Given the description of an element on the screen output the (x, y) to click on. 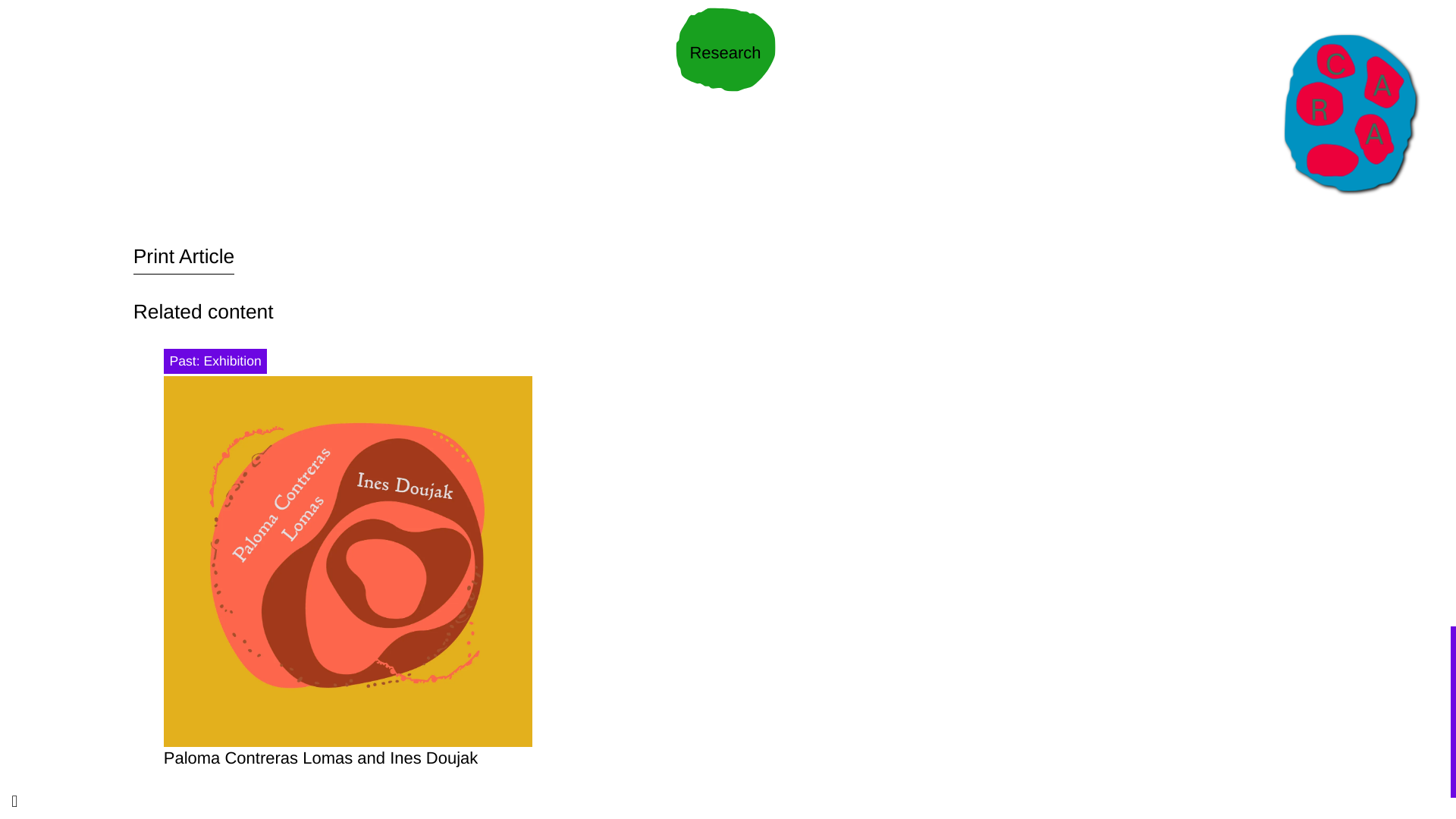
Print Article (183, 255)
